Given the description of an element on the screen output the (x, y) to click on. 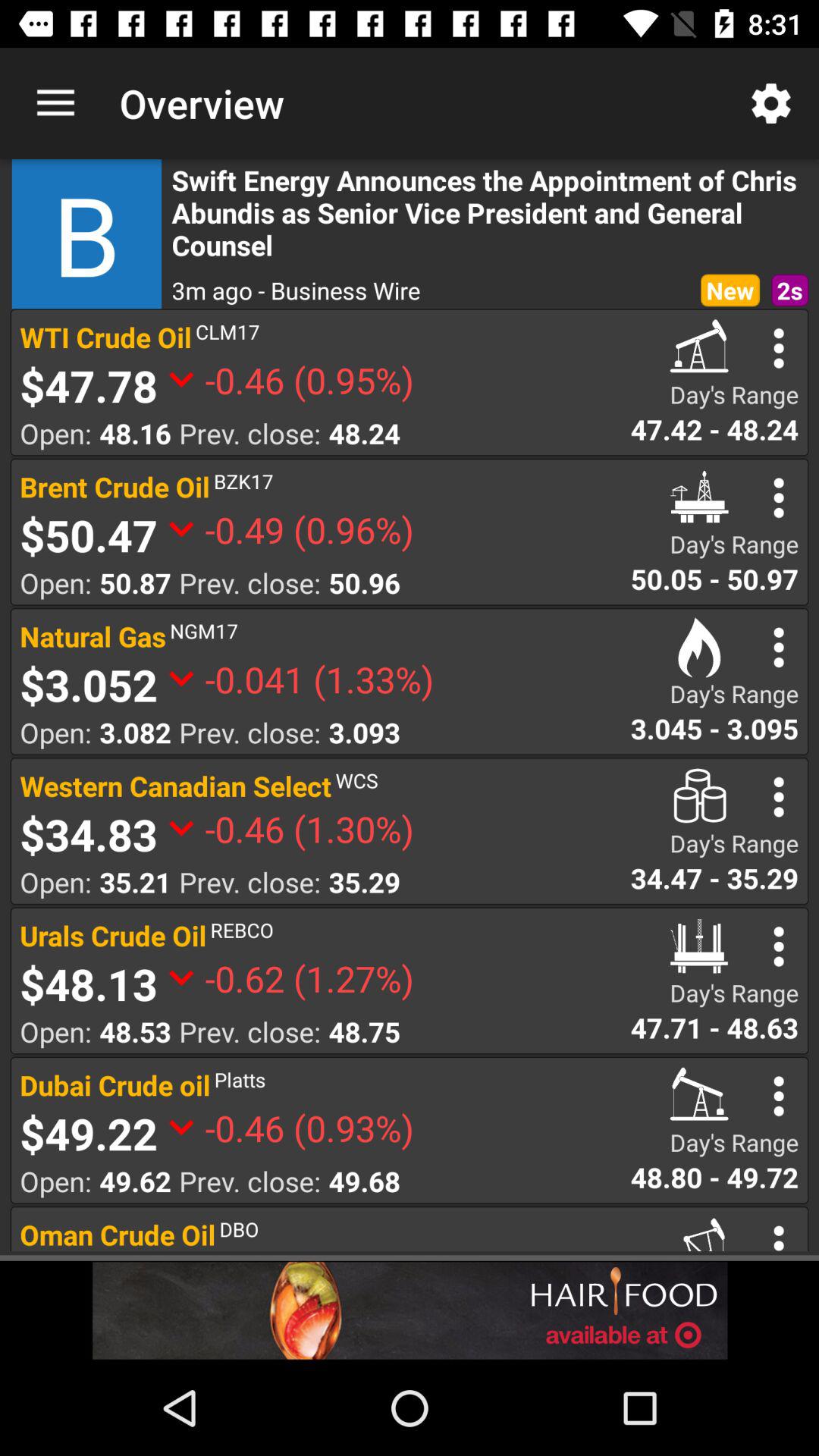
go to setting (778, 497)
